Given the description of an element on the screen output the (x, y) to click on. 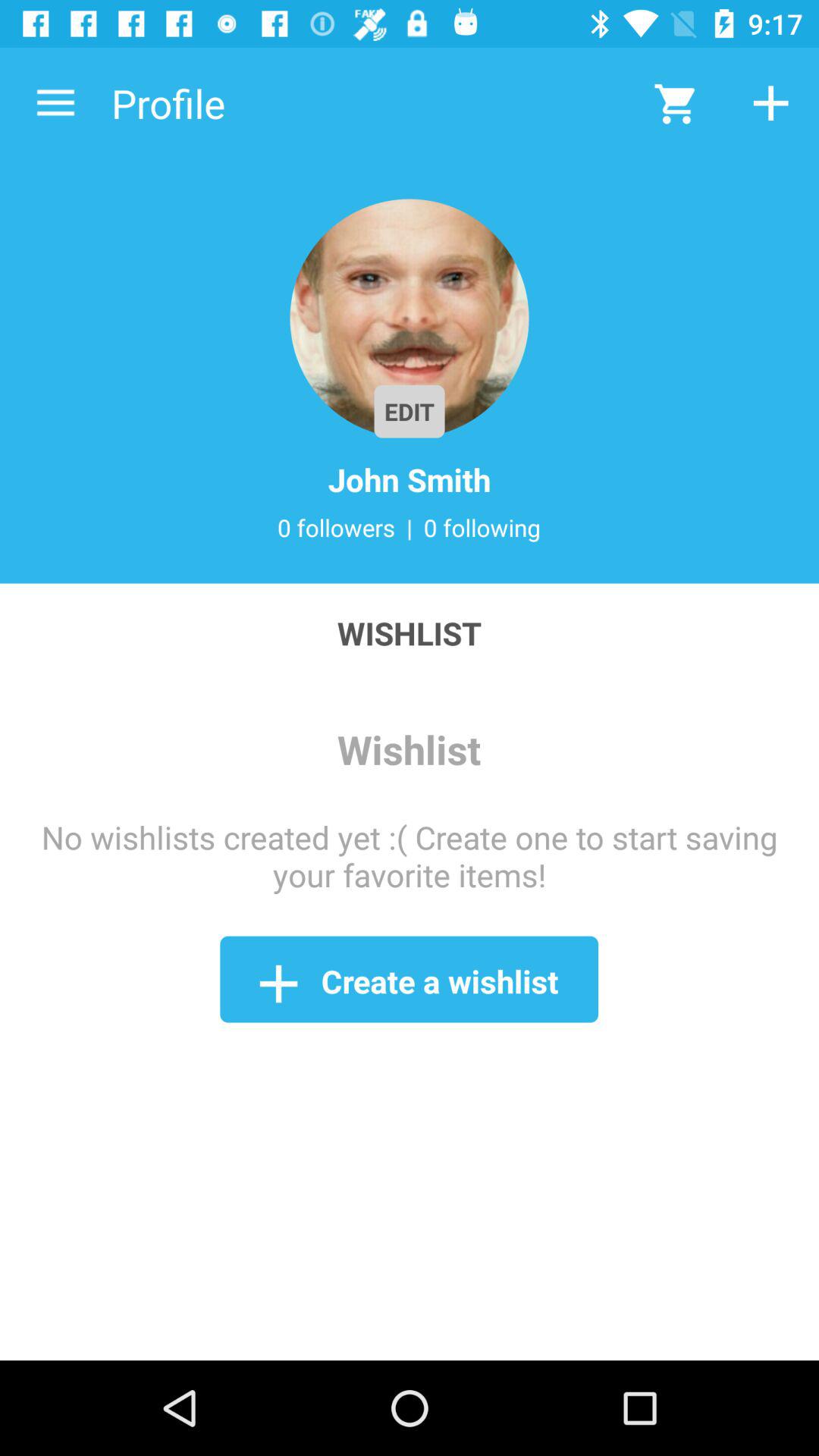
choose icon above john smith (409, 318)
